Given the description of an element on the screen output the (x, y) to click on. 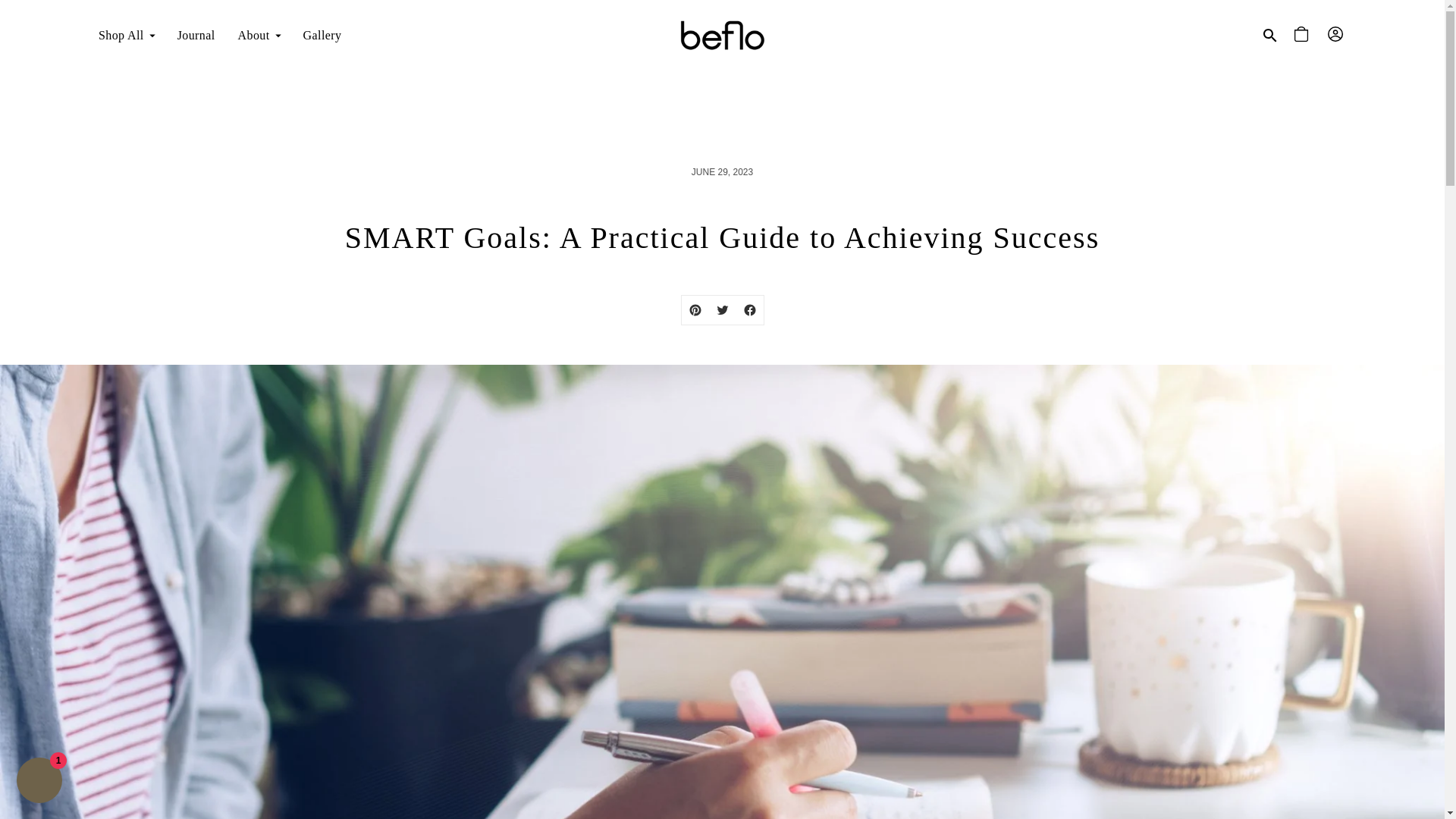
Gallery (322, 35)
Share to Pinterest (694, 309)
Share to Facebook (748, 309)
Share to twitter (721, 309)
Journal (196, 35)
Cart (1303, 35)
About (259, 35)
Shop All (126, 35)
Search (1270, 35)
Account (1337, 35)
